Given the description of an element on the screen output the (x, y) to click on. 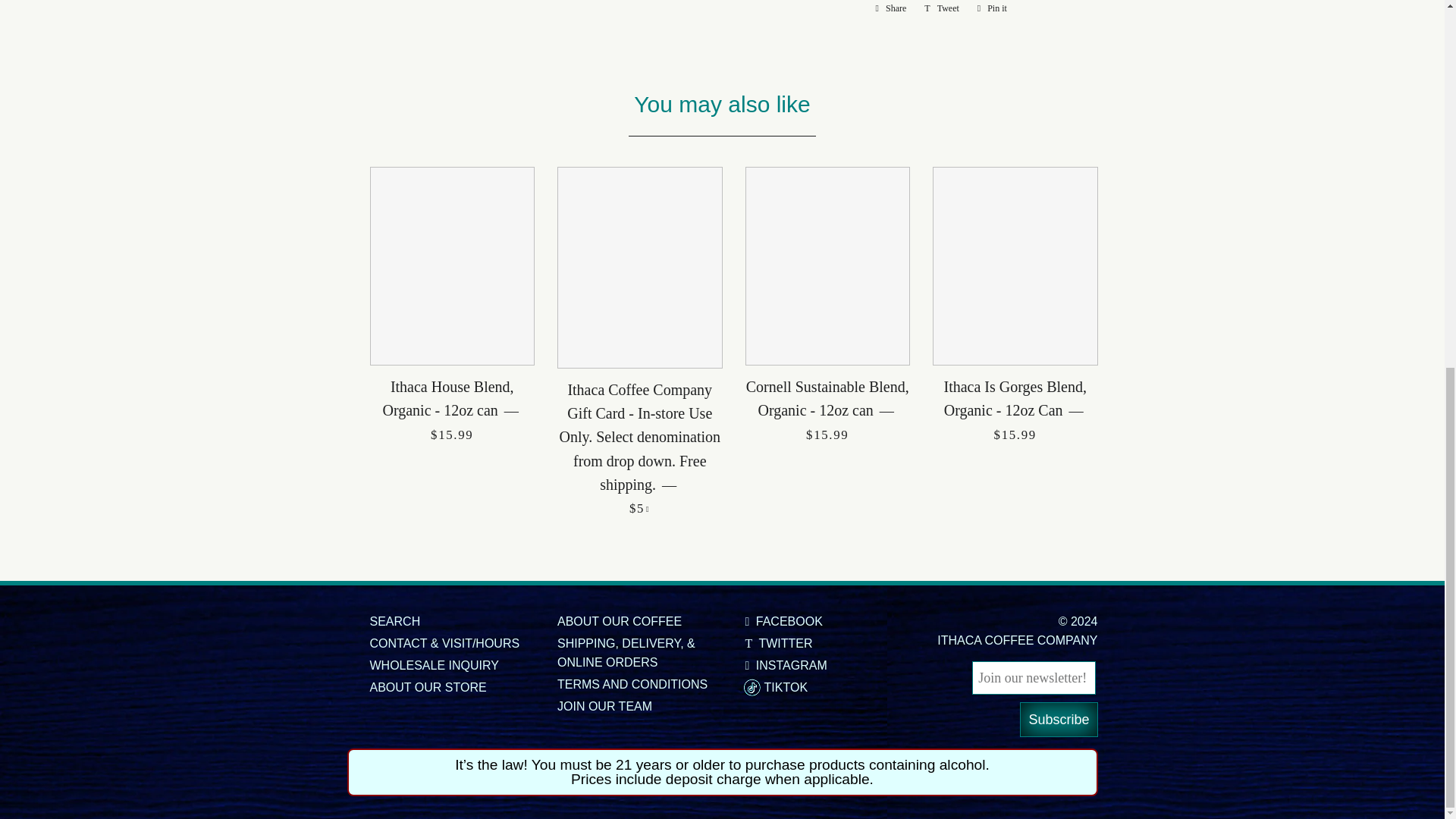
Subscribe (1058, 719)
Share on Facebook (890, 8)
Ithaca Coffee Company on Instagram (785, 665)
Ithaca Coffee Company on Twitter (778, 643)
Pin on Pinterest (991, 8)
Ithaca Coffee Company on Facebook (783, 621)
Ithaca Coffee Company on Facebook (786, 686)
Tweet on Twitter (941, 8)
